Given the description of an element on the screen output the (x, y) to click on. 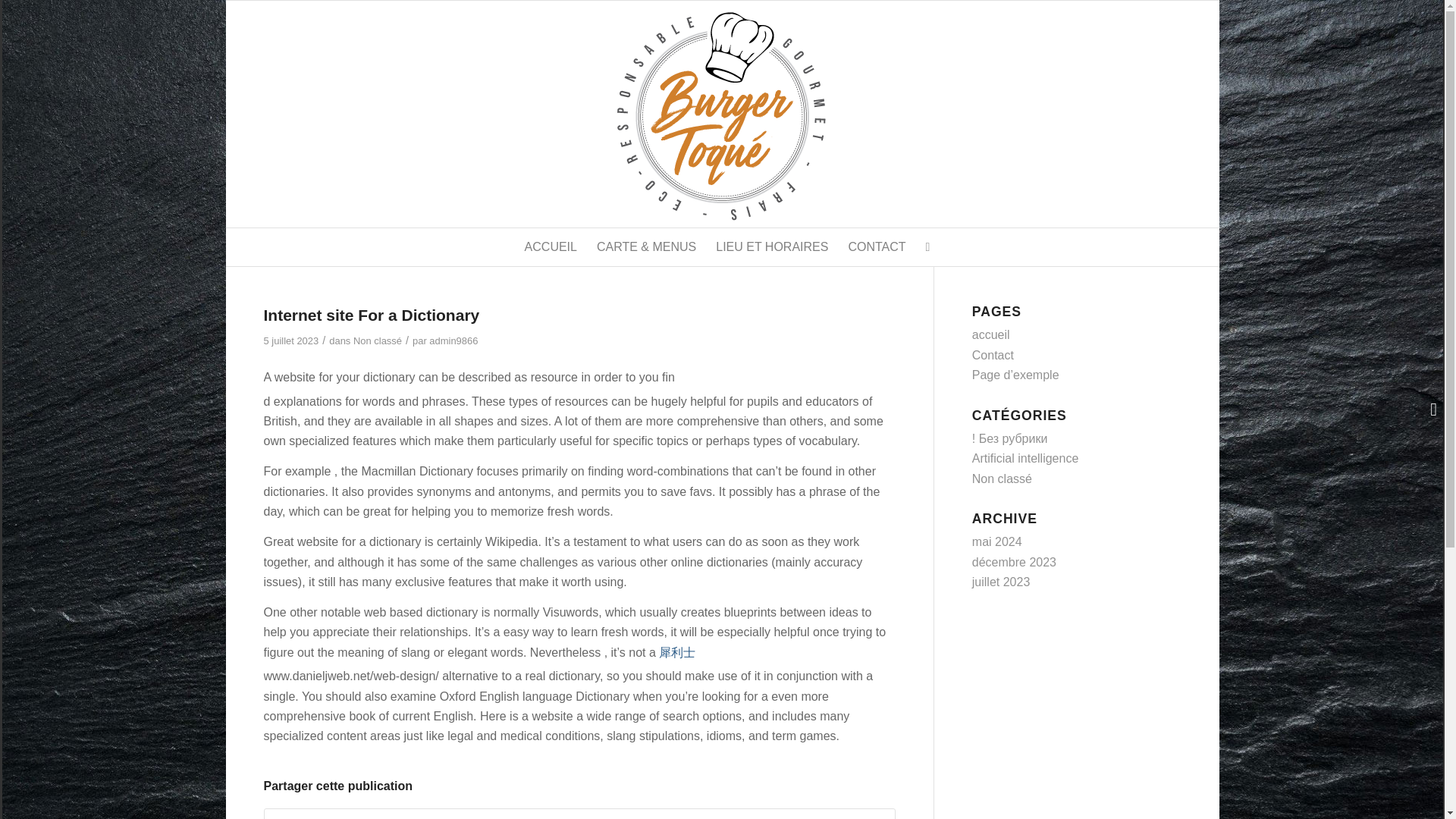
LIEU ET HORAIRES (772, 247)
ACCUEIL (550, 247)
Articles par admin9866 (453, 340)
admin9866 (453, 340)
CONTACT (876, 247)
